Given the description of an element on the screen output the (x, y) to click on. 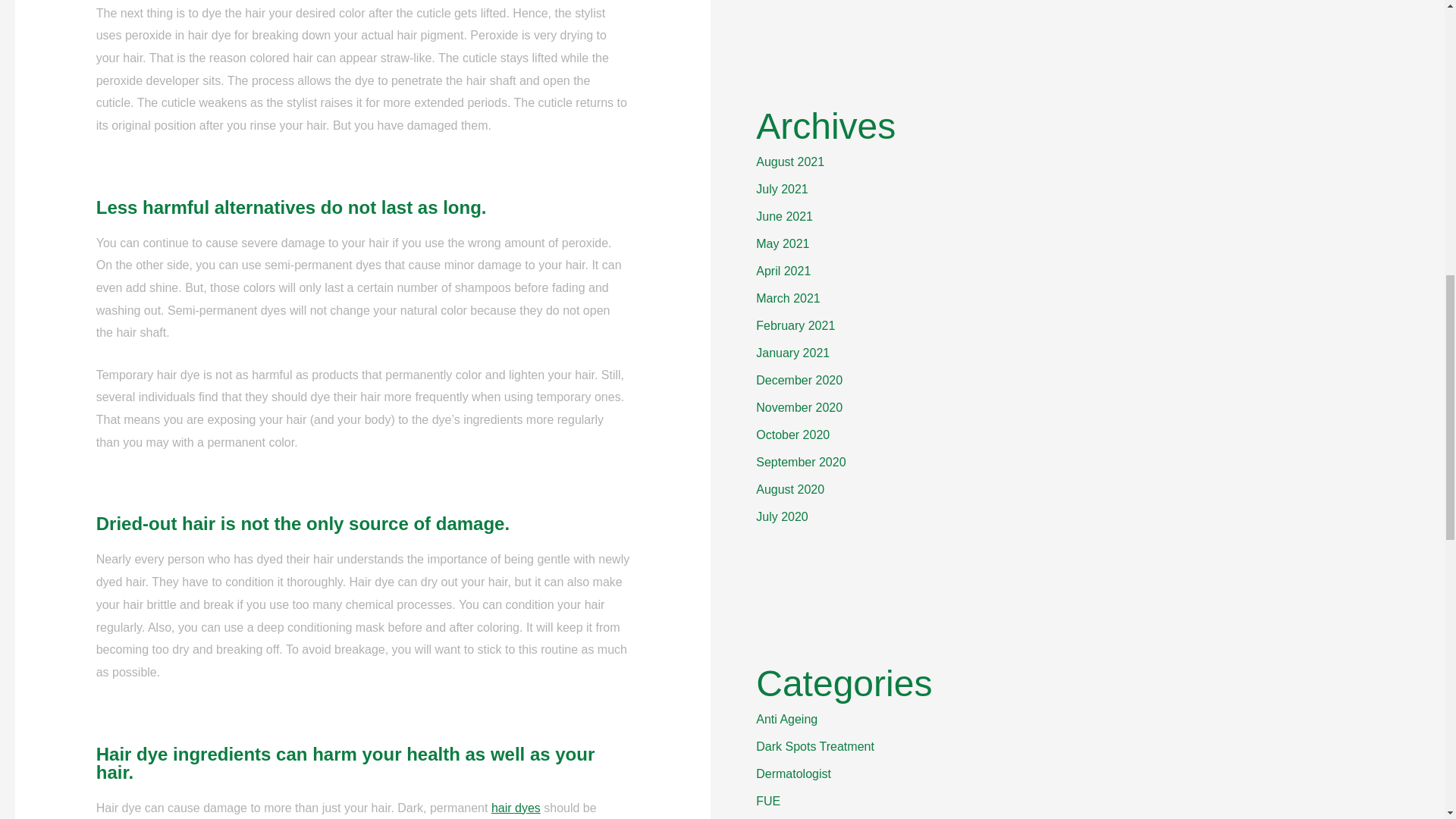
hair dyes (516, 807)
August 2021 (789, 161)
May 2021 (782, 243)
June 2021 (783, 215)
April 2021 (782, 270)
July 2021 (781, 188)
March 2021 (788, 297)
